Given the description of an element on the screen output the (x, y) to click on. 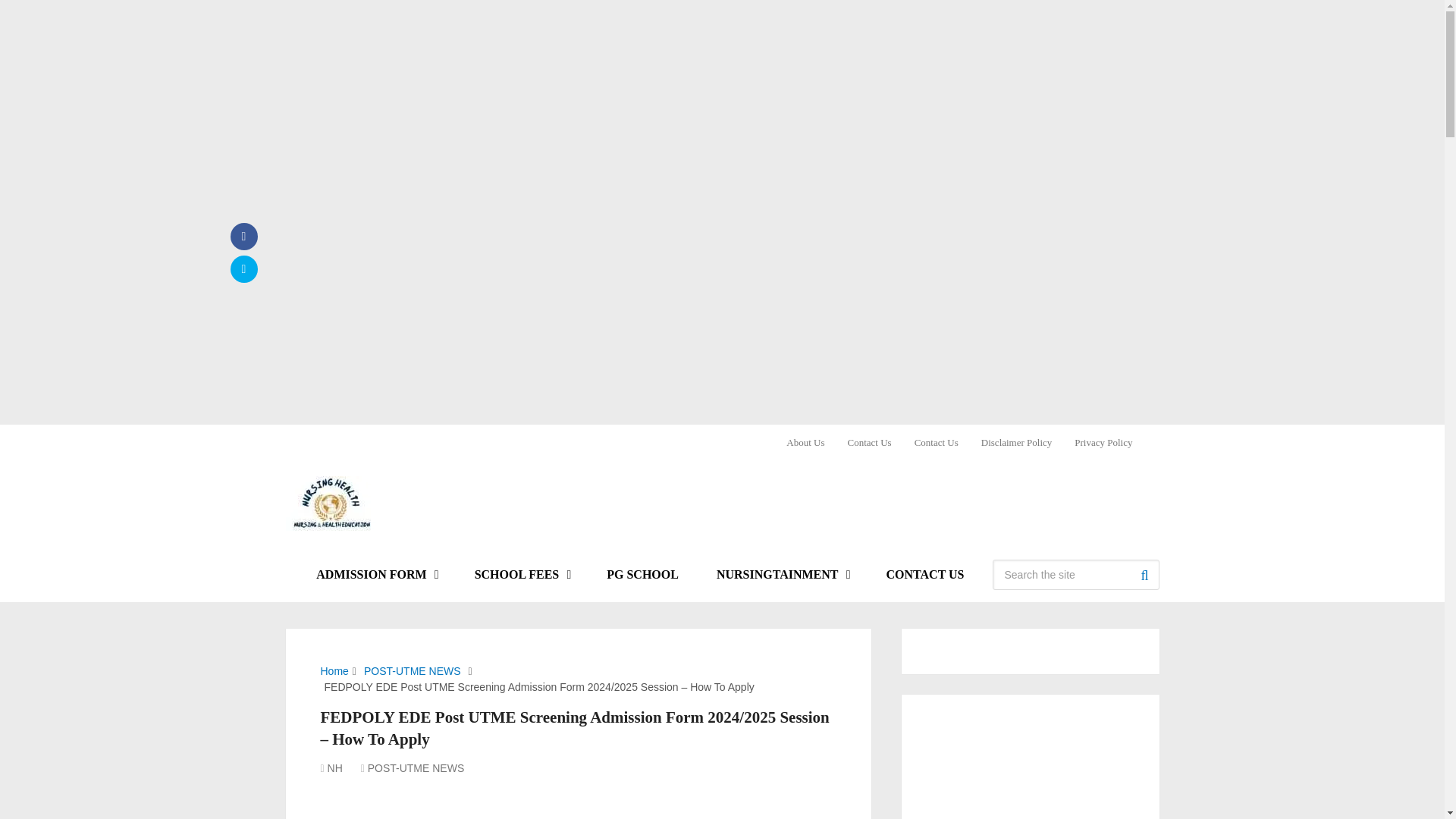
Contact Us (868, 442)
SCHOOL FEES (521, 574)
Search (1143, 574)
Disclaimer Policy (1016, 442)
Home (333, 671)
CONTACT US (925, 574)
Posts by NH (334, 767)
Contact Us (935, 442)
About Us (810, 442)
NURSINGTAINMENT (782, 574)
